Given the description of an element on the screen output the (x, y) to click on. 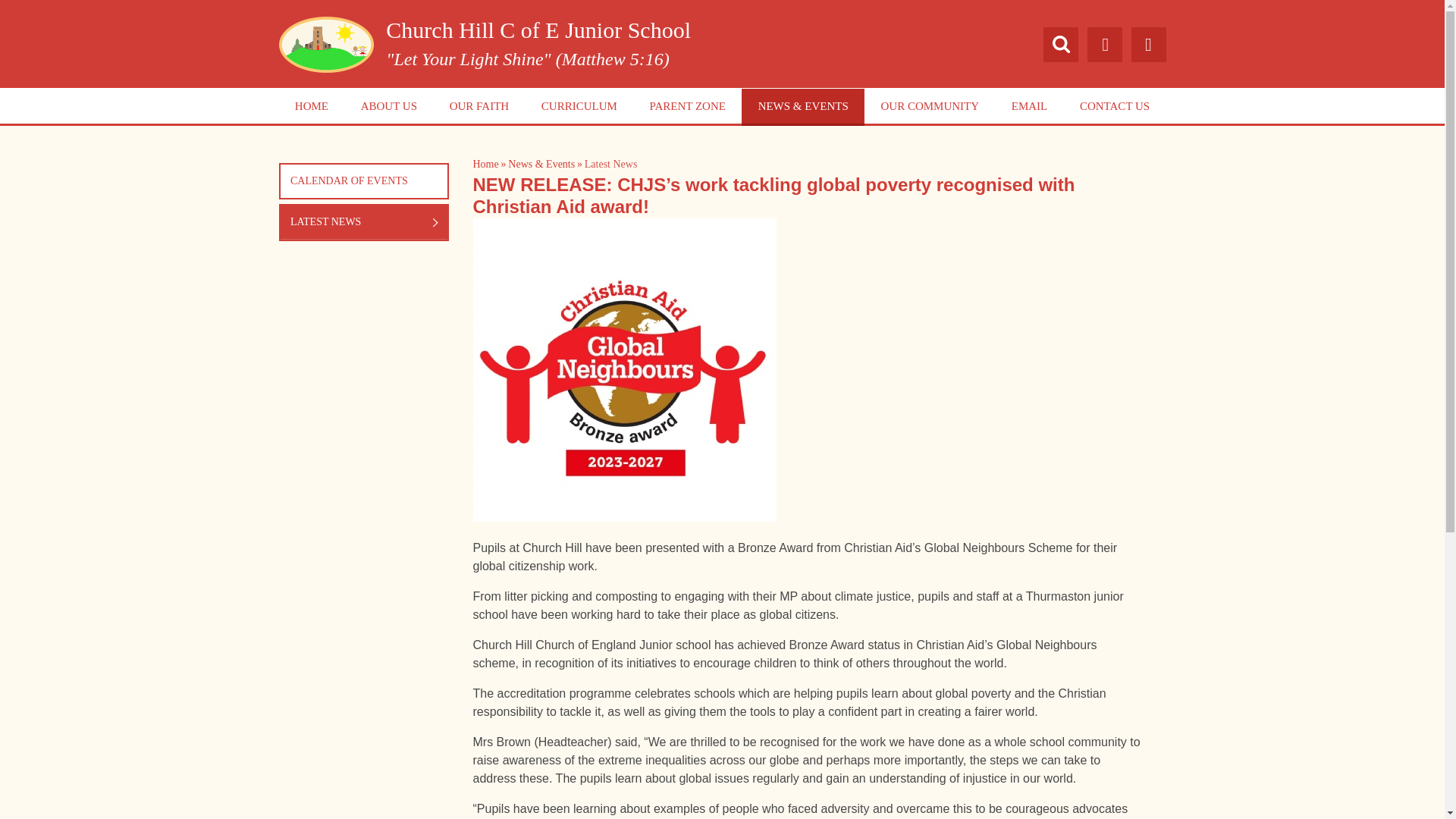
HOME (312, 106)
